Given the description of an element on the screen output the (x, y) to click on. 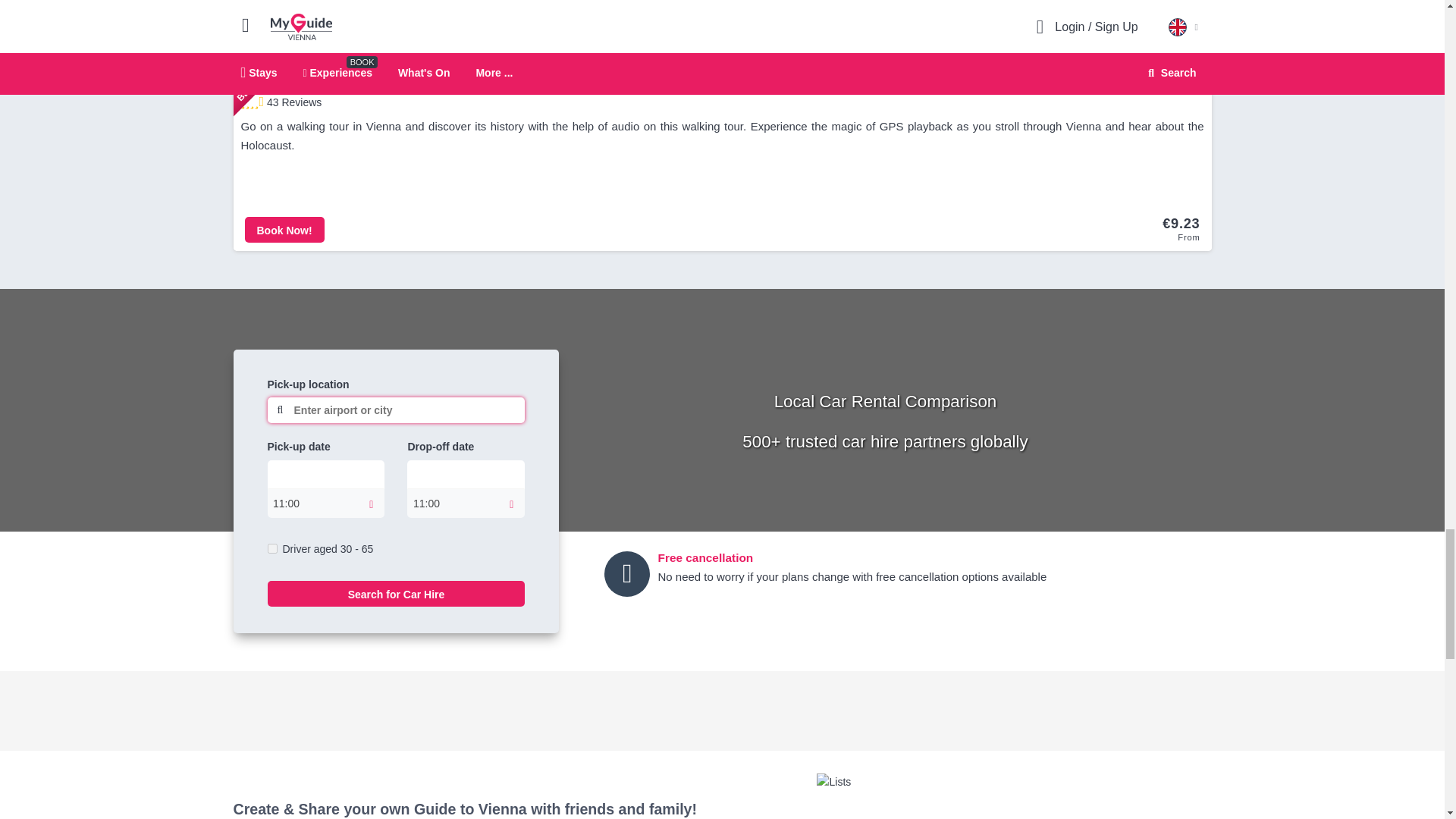
on (271, 548)
